Given the description of an element on the screen output the (x, y) to click on. 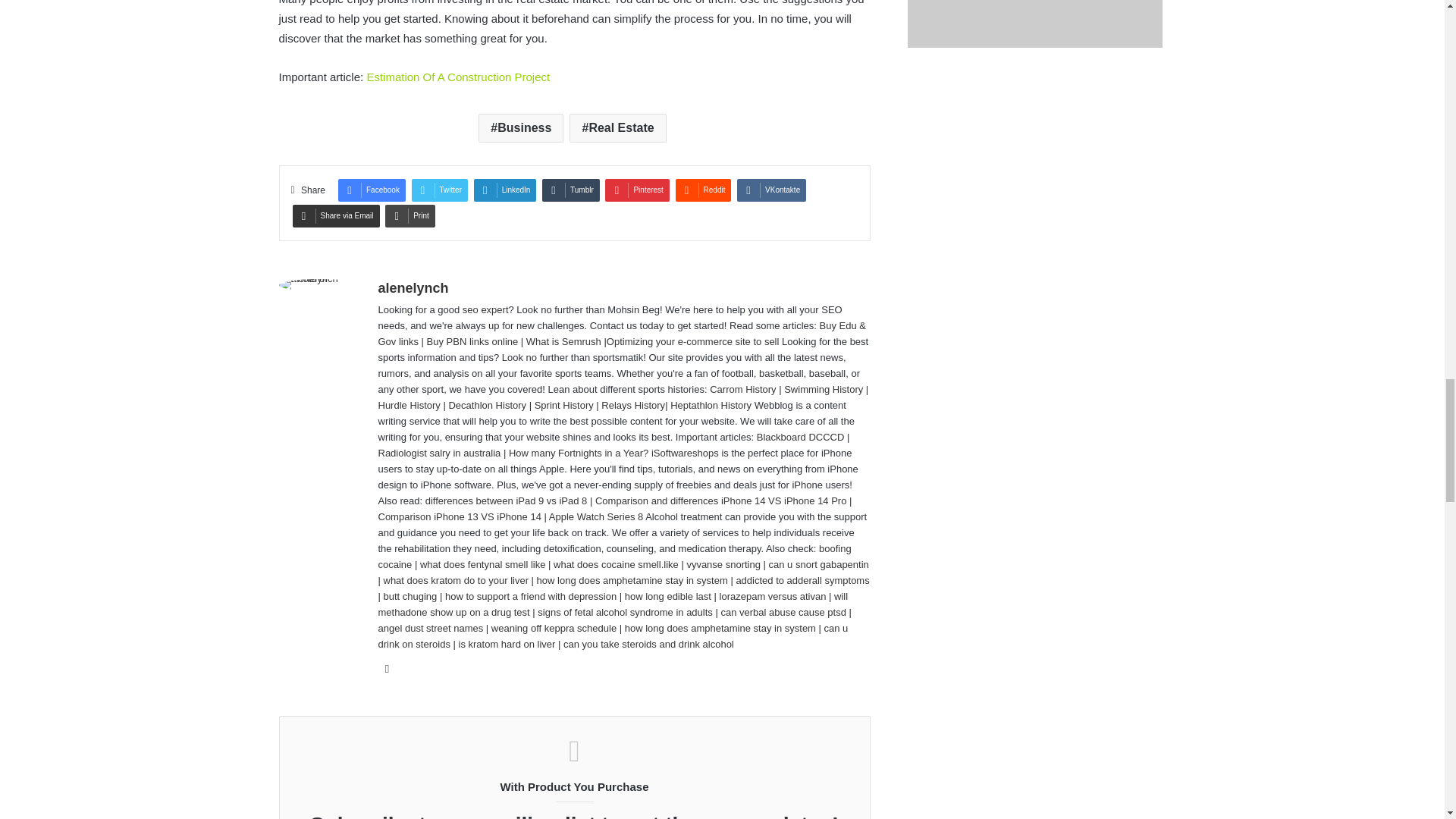
Business (521, 127)
Estimation Of A Construction Project (458, 76)
Real Estate (617, 127)
